Given the description of an element on the screen output the (x, y) to click on. 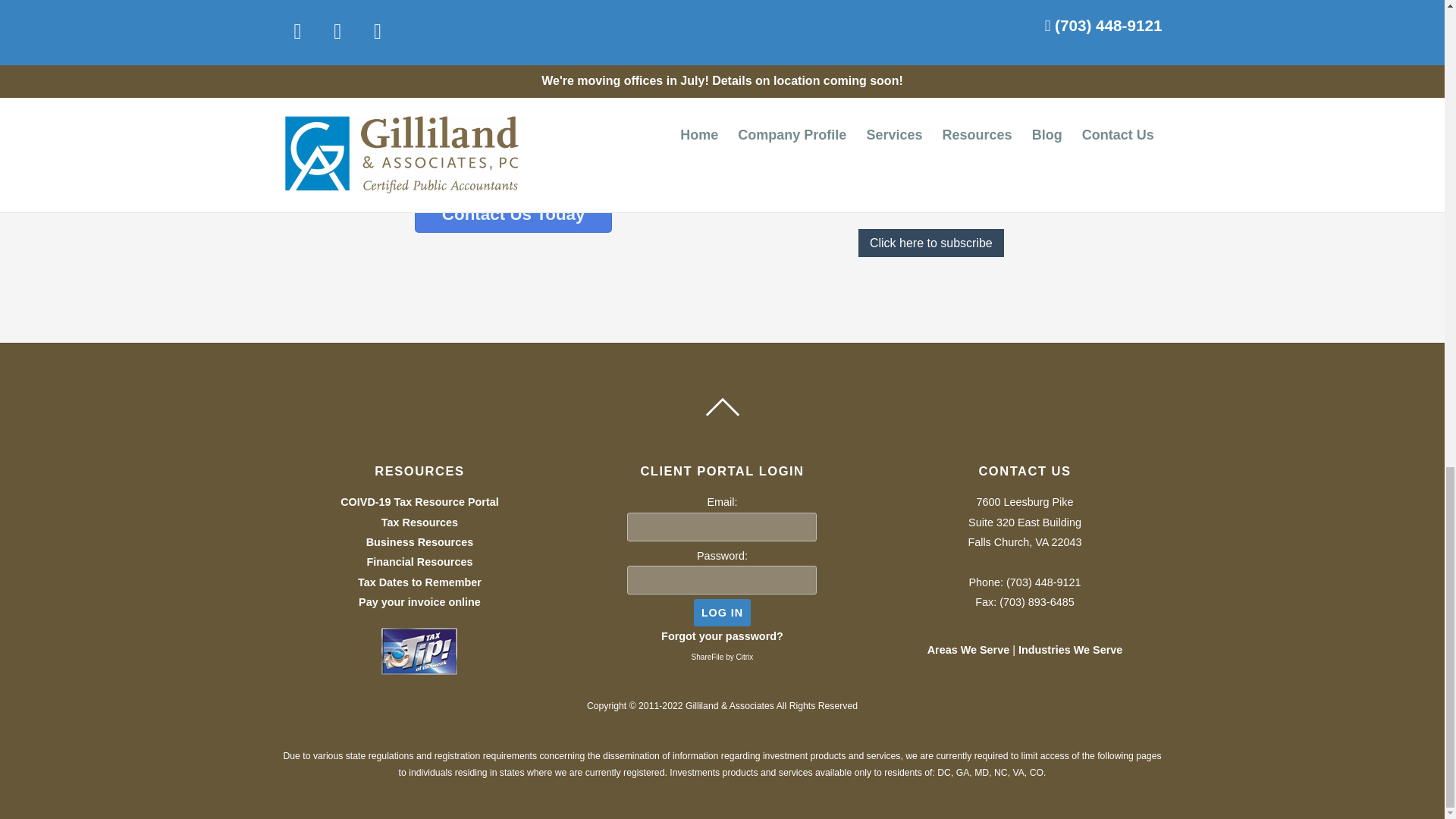
Tax Dates to Remember (419, 582)
Tax Resources (419, 522)
Pay your invoice online (419, 602)
Log In (722, 612)
Contact Us Today (512, 213)
Financial Resources (418, 562)
Business Resources (420, 541)
COIVD-19 Tax Resource Portal (418, 501)
Click here to subscribe (931, 243)
